Given the description of an element on the screen output the (x, y) to click on. 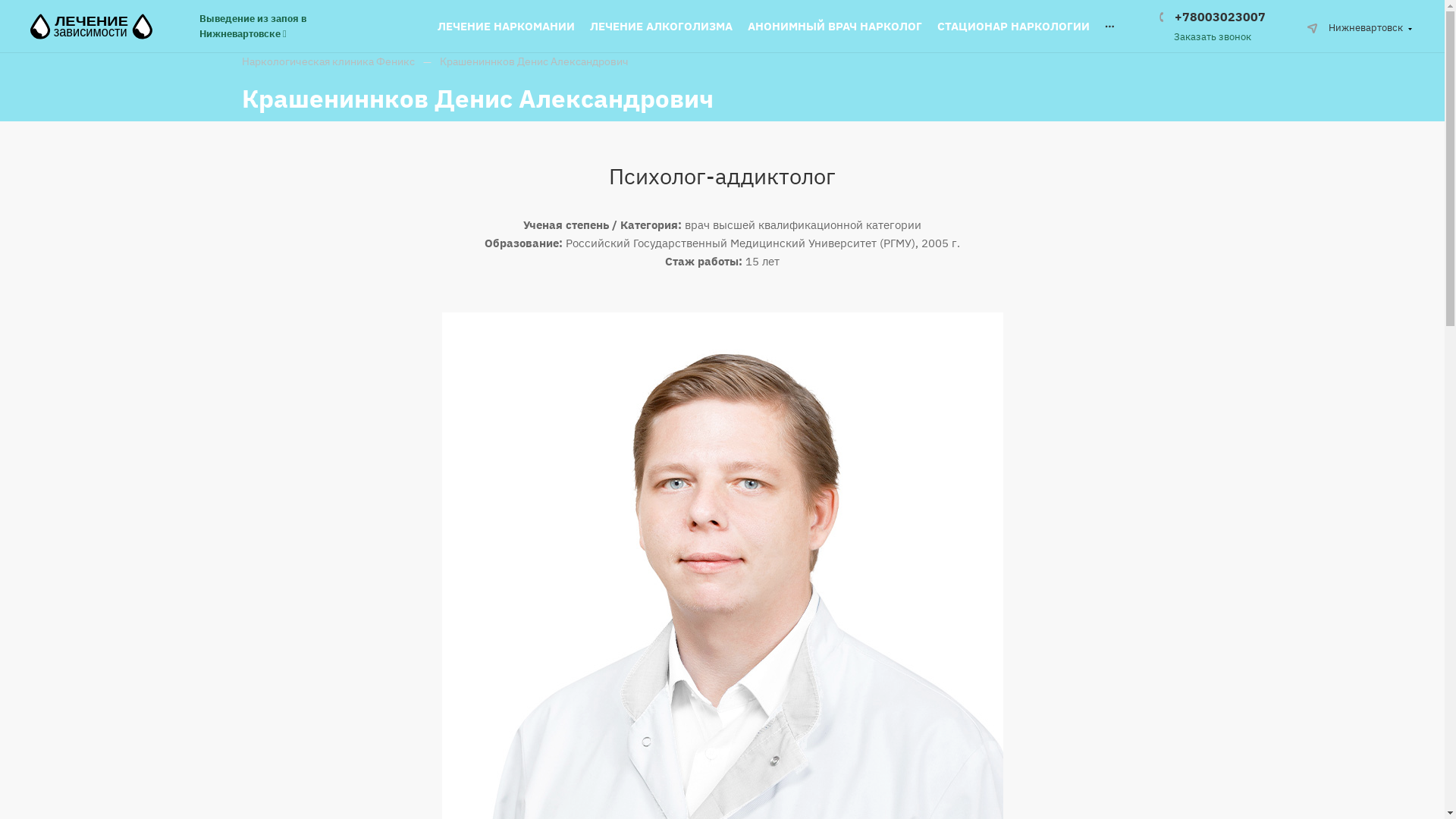
+78003023007 Element type: text (1212, 16)
